Given the description of an element on the screen output the (x, y) to click on. 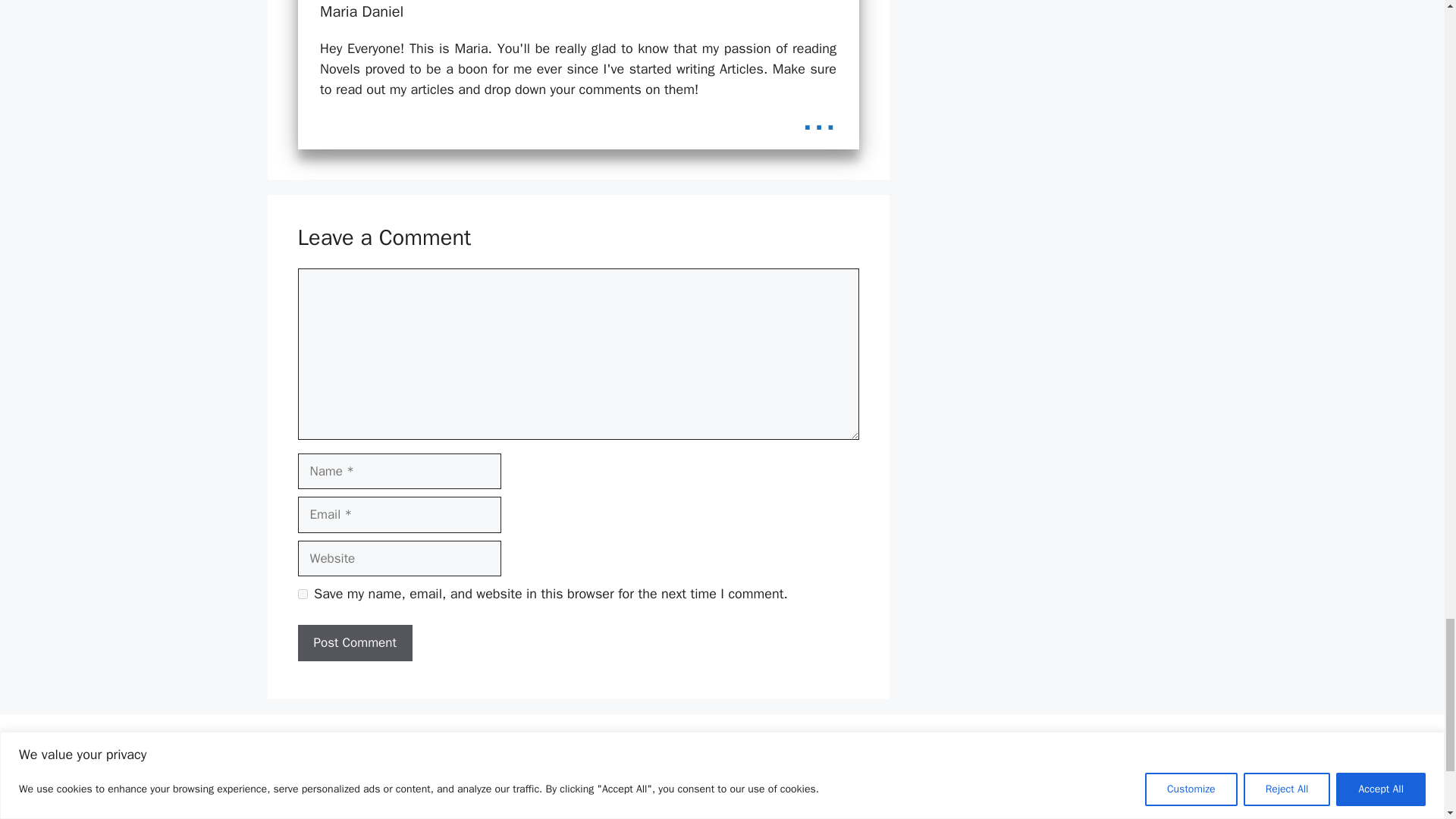
Post Comment (354, 642)
yes (302, 593)
Read more (818, 117)
